Given the description of an element on the screen output the (x, y) to click on. 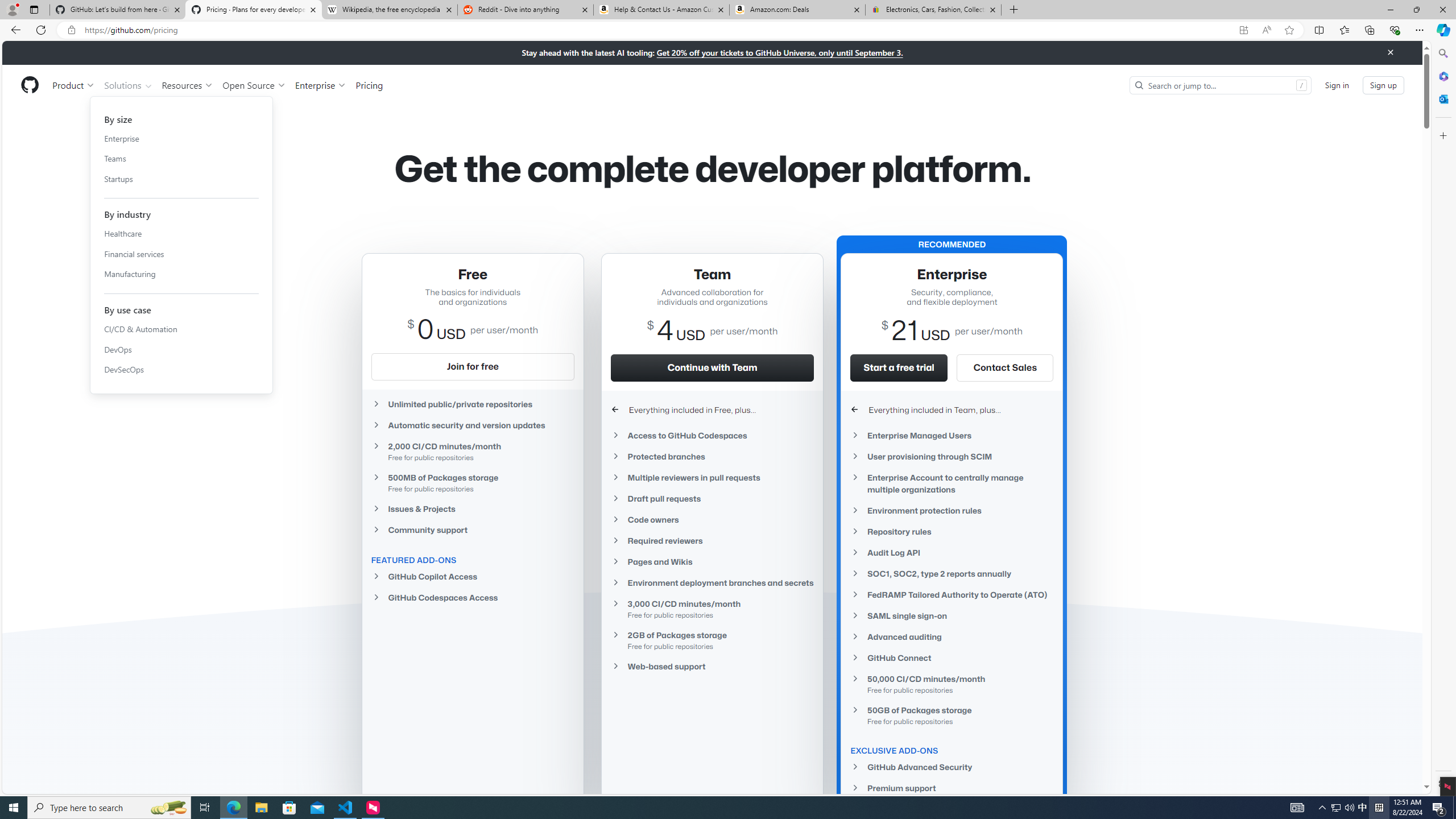
50GB of Packages storage Free for public repositories (952, 715)
SOC1, SOC2, type 2 reports annually (952, 573)
GitHub Advanced Security (952, 766)
GitHub Copilot Access (473, 576)
Healthcare (181, 233)
Pages and Wikis (711, 561)
Enterprise (181, 138)
Everything included in Free, plus... (711, 409)
50,000 CI/CD minutes/monthFree for public repositories (952, 683)
Access to GitHub Codespaces (711, 435)
Access to GitHub Codespaces (711, 435)
GitHub Connect (952, 658)
Enterprise (319, 84)
Required reviewers (711, 540)
